Given the description of an element on the screen output the (x, y) to click on. 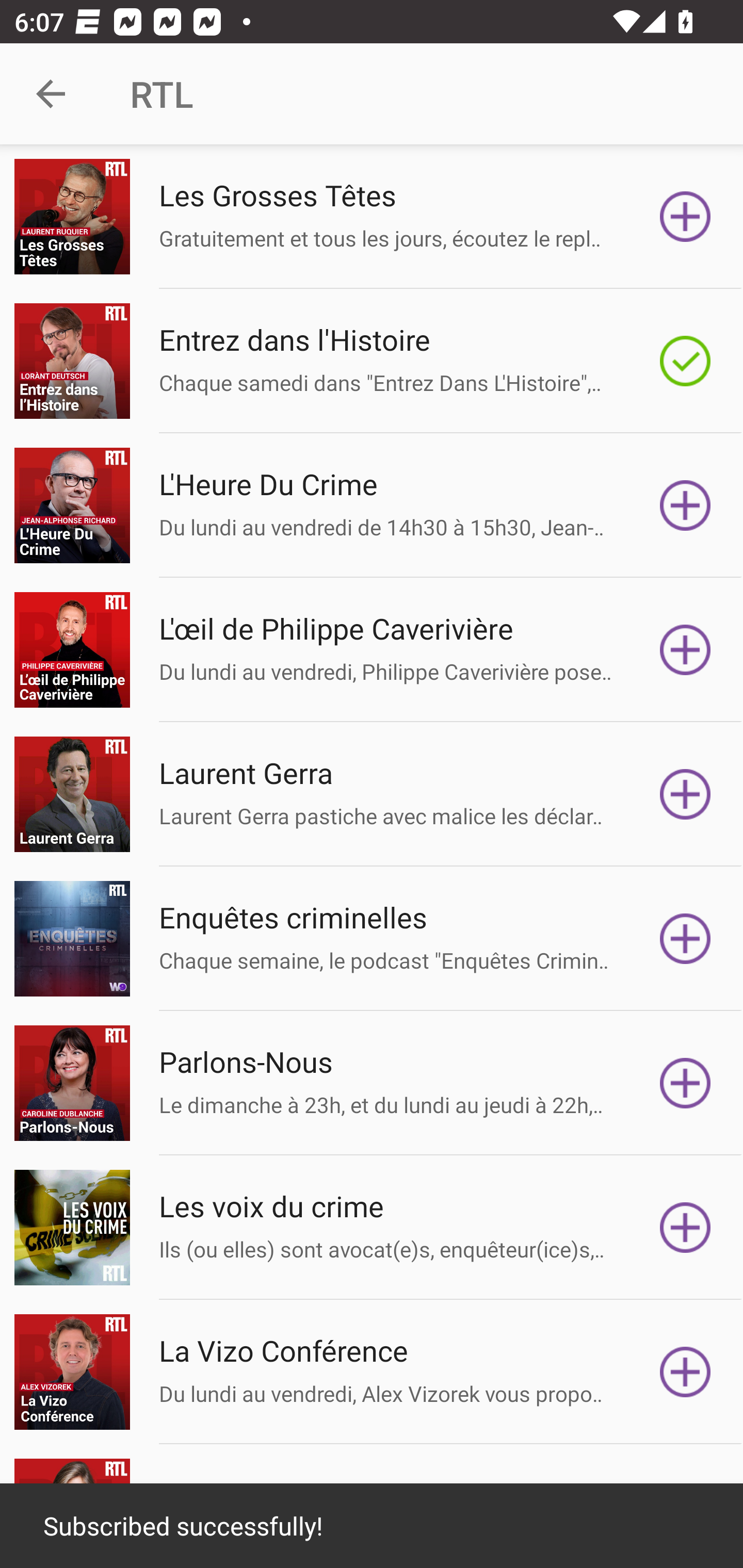
Navigate up (50, 93)
Subscribe (685, 216)
Subscribed (685, 360)
Subscribe (685, 505)
Subscribe (685, 649)
Subscribe (685, 793)
Subscribe (685, 939)
Subscribe (685, 1083)
Subscribe (685, 1227)
Subscribe (685, 1371)
Subscribed successfully! (371, 1525)
